Given the description of an element on the screen output the (x, y) to click on. 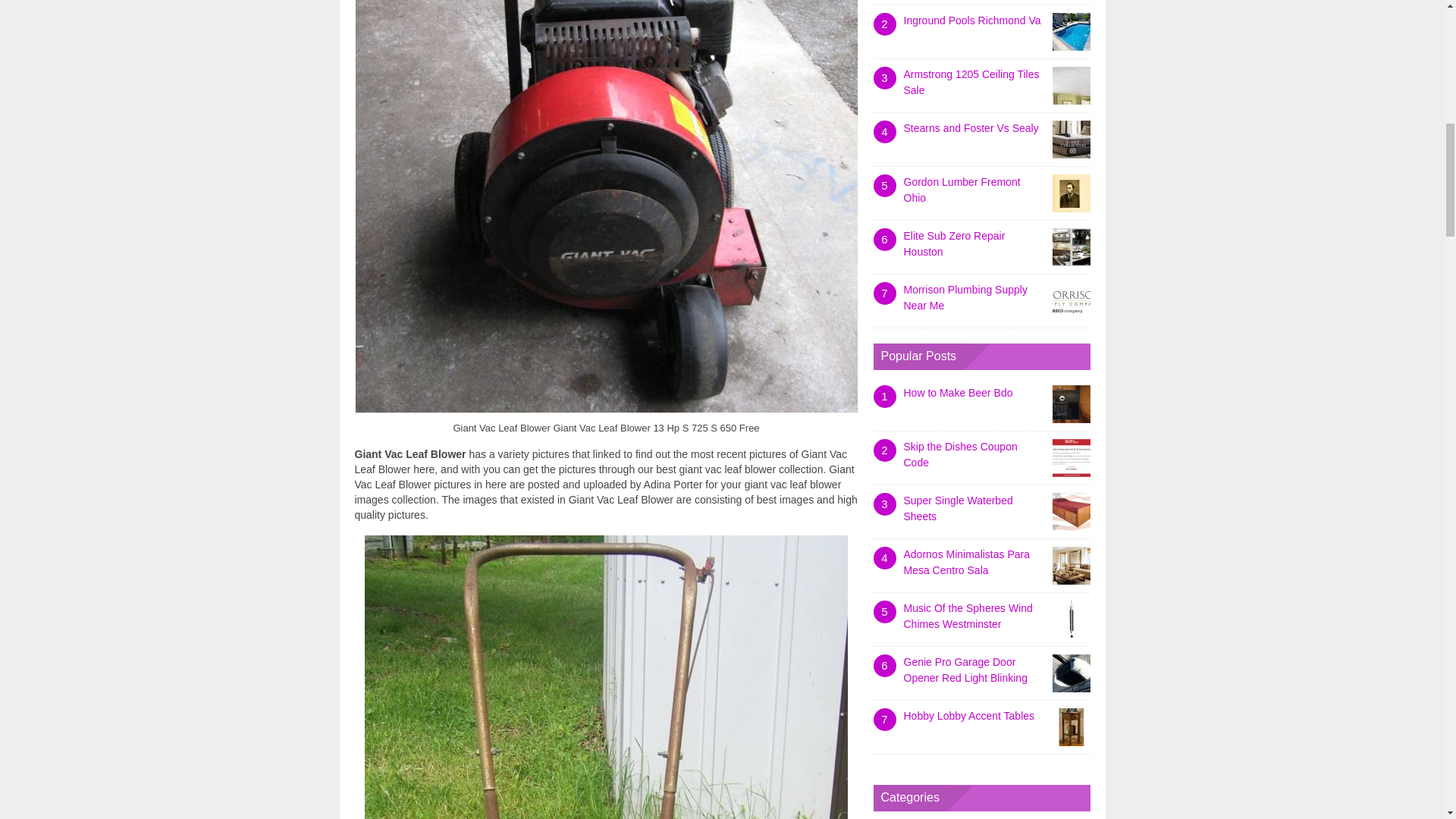
Inground Pools Richmond Va (972, 20)
